Given the description of an element on the screen output the (x, y) to click on. 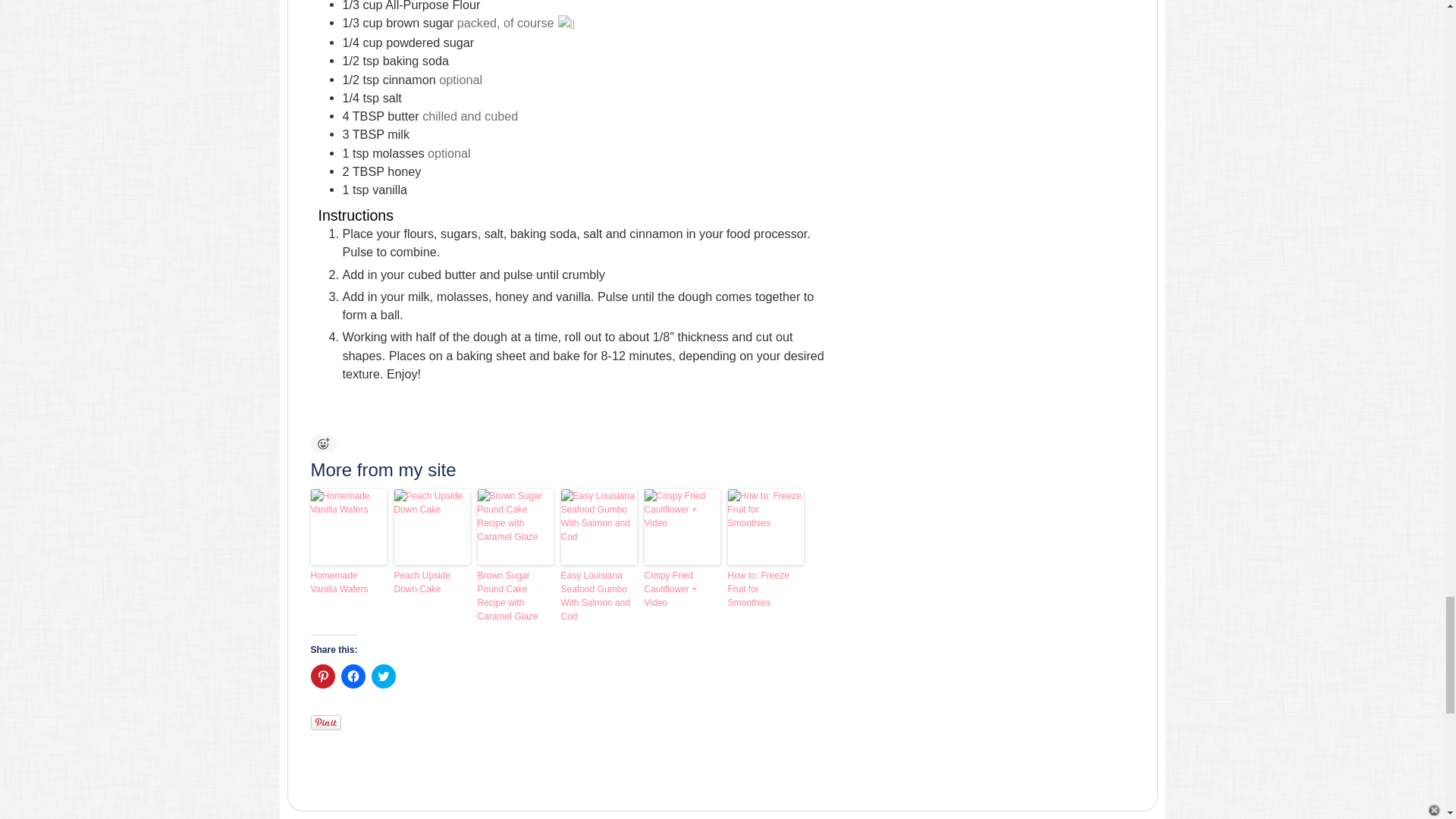
Click to share on Twitter (383, 676)
Click to share on Pinterest (322, 676)
Click to share on Facebook (352, 676)
Easy Louisiana Seafood Gumbo With Salmon and Cod (598, 595)
Homemade Vanilla Wafers (349, 582)
Brown Sugar Pound Cake Recipe with Caramel Glaze (515, 595)
Peach Upside Down Cake (432, 582)
Pin It (325, 722)
How to: Freeze Fruit for Smoothies (765, 588)
